Given the description of an element on the screen output the (x, y) to click on. 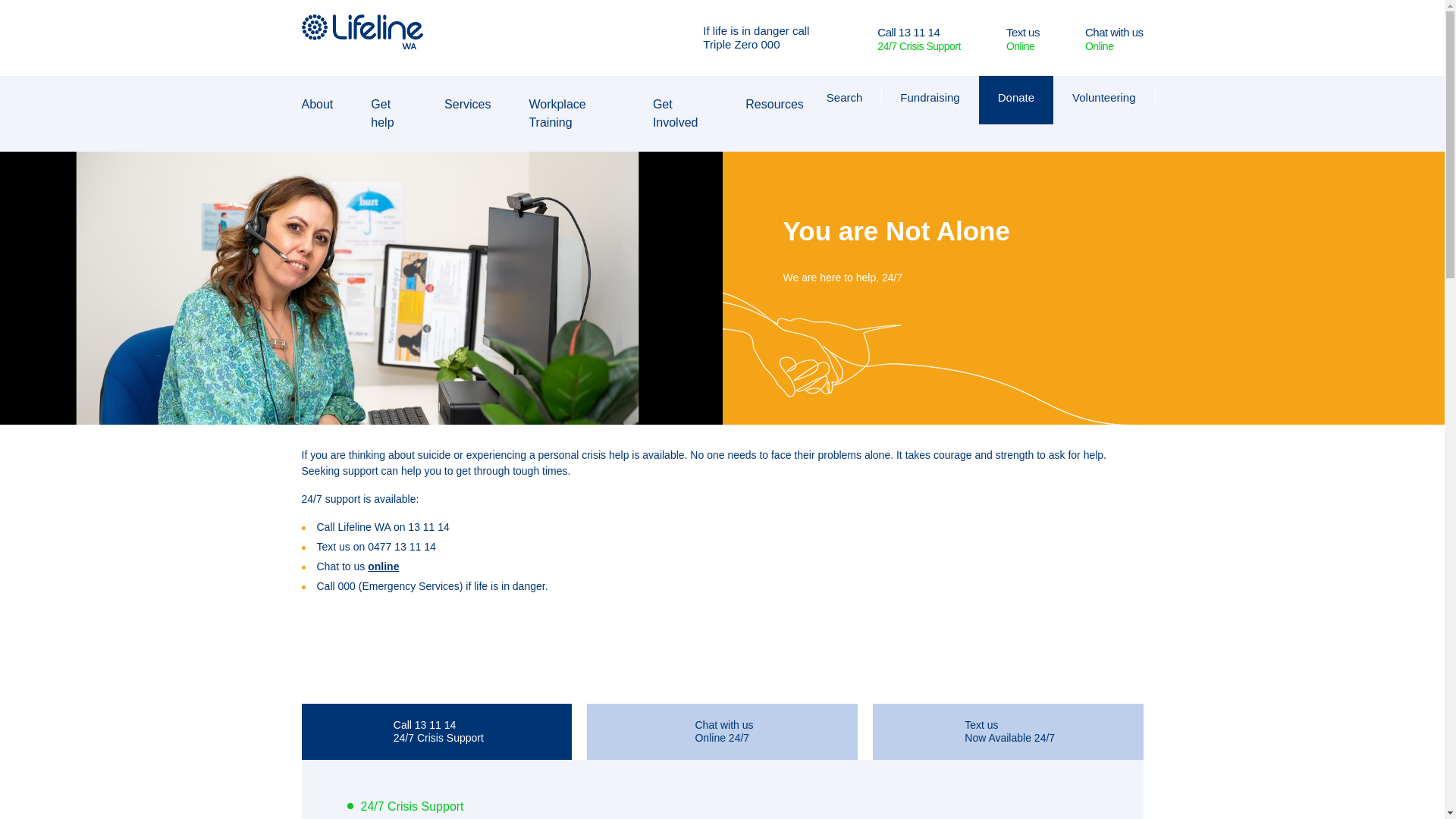
Text us
Now Available 24/7 Element type: text (1007, 731)
Chat with us
Online Element type: text (1114, 38)
Chat with us
Online 24/7 Element type: text (721, 731)
Text us
Online Element type: text (1022, 38)
Call 13 11 14
24/7 Crisis Support Element type: text (436, 731)
Workplace Training Element type: text (578, 113)
Donate Element type: text (1016, 95)
Get help Element type: text (396, 113)
Call 13 11 14
24/7 Crisis Support Element type: text (918, 38)
online Element type: text (382, 566)
Volunteering Element type: text (1103, 95)
Get Involved Element type: text (687, 113)
Fundraising Element type: text (929, 95)
000 Element type: text (770, 43)
Search Element type: text (844, 95)
Services Element type: text (475, 104)
Resources Element type: text (781, 104)
About Element type: text (324, 104)
